Given the description of an element on the screen output the (x, y) to click on. 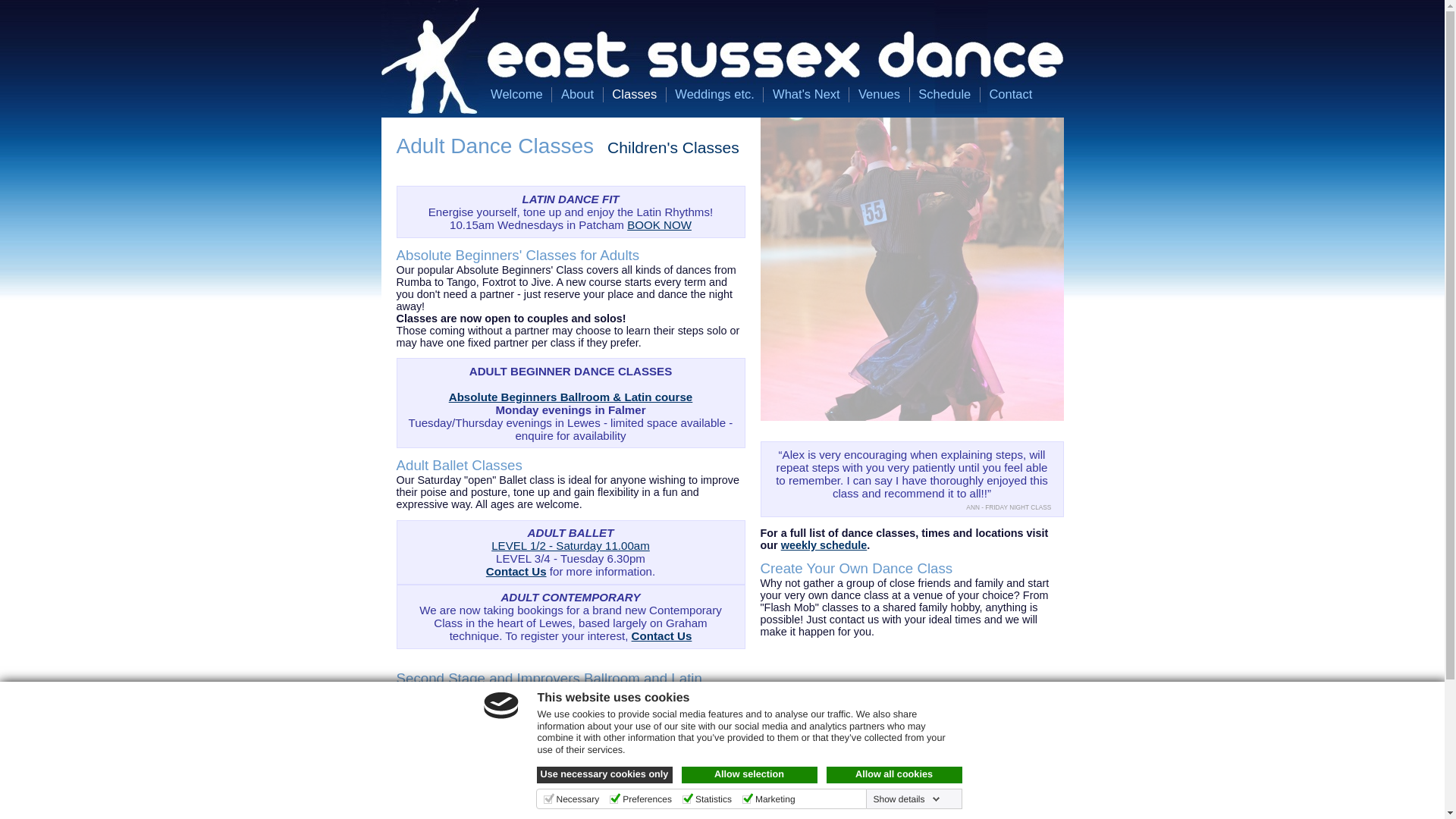
Weddings etc. (714, 93)
Schedule (944, 93)
Allow selection (748, 774)
Contact Us (662, 635)
BOOK NOW (659, 224)
Allow all cookies (894, 774)
Contact (1010, 93)
Contact Us (618, 770)
About (577, 93)
